Given the description of an element on the screen output the (x, y) to click on. 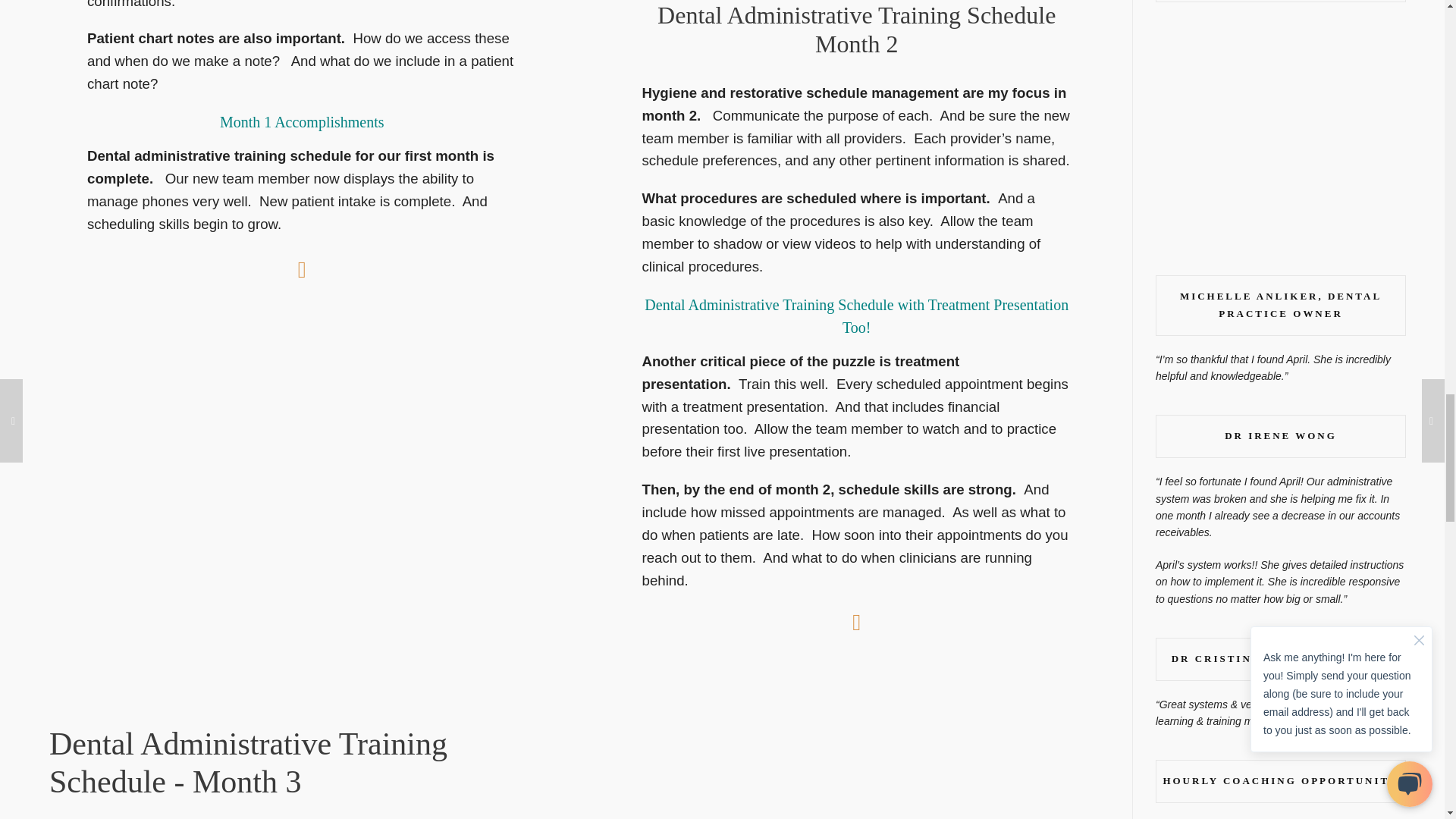
Dental Administrative Training Program (247, 762)
Dental Administrative Training Program (856, 29)
